Given the description of an element on the screen output the (x, y) to click on. 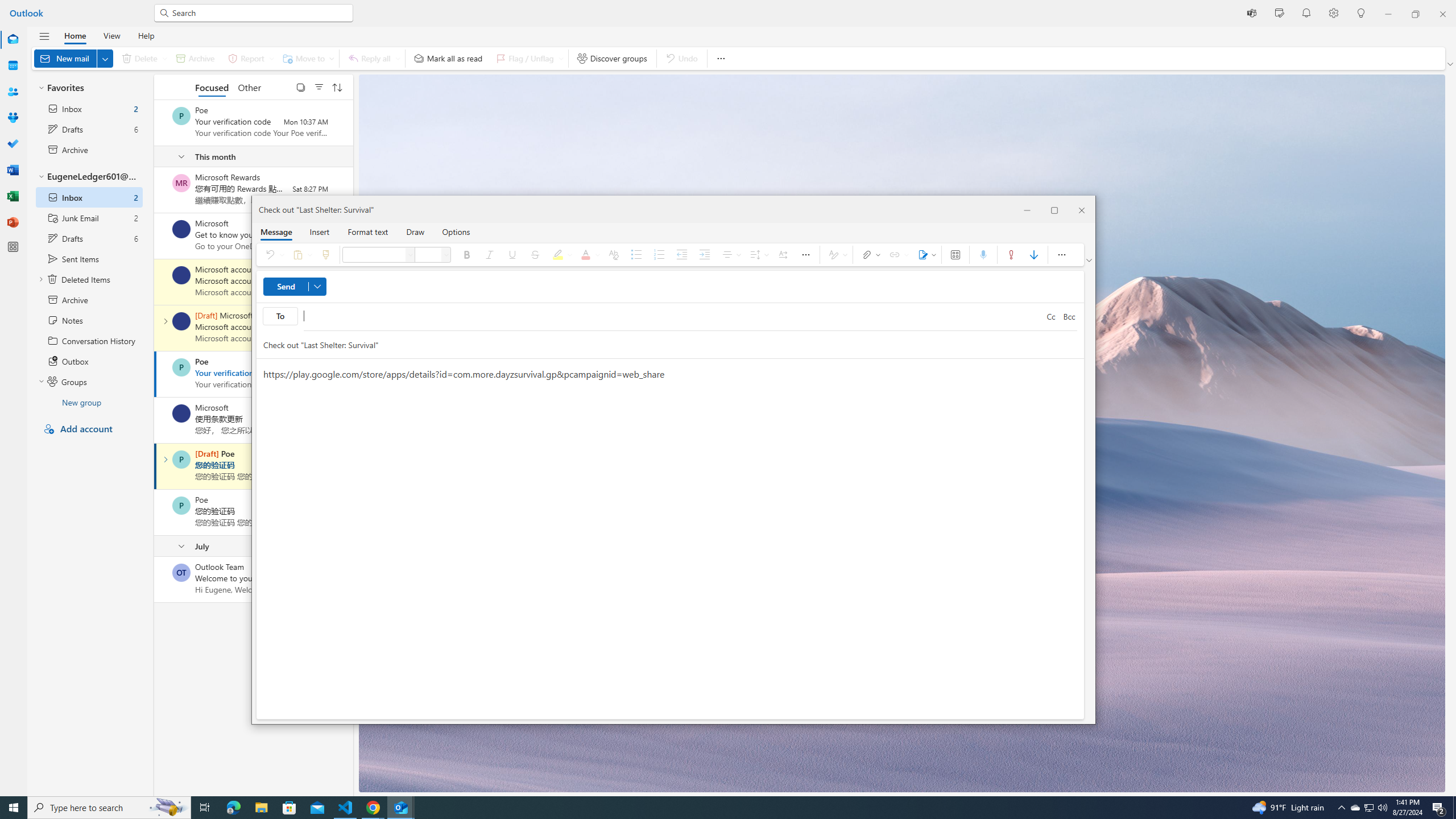
Microsoft Edge (233, 807)
More send options (317, 286)
Dictate (983, 254)
To Do (12, 143)
Italic (489, 254)
Options (1368, 807)
Align (456, 231)
Cc (730, 254)
Expand to see more respond options (1050, 316)
Paste (398, 58)
Flag / Unflag (300, 254)
Bold (527, 58)
Bullets (467, 254)
